Given the description of an element on the screen output the (x, y) to click on. 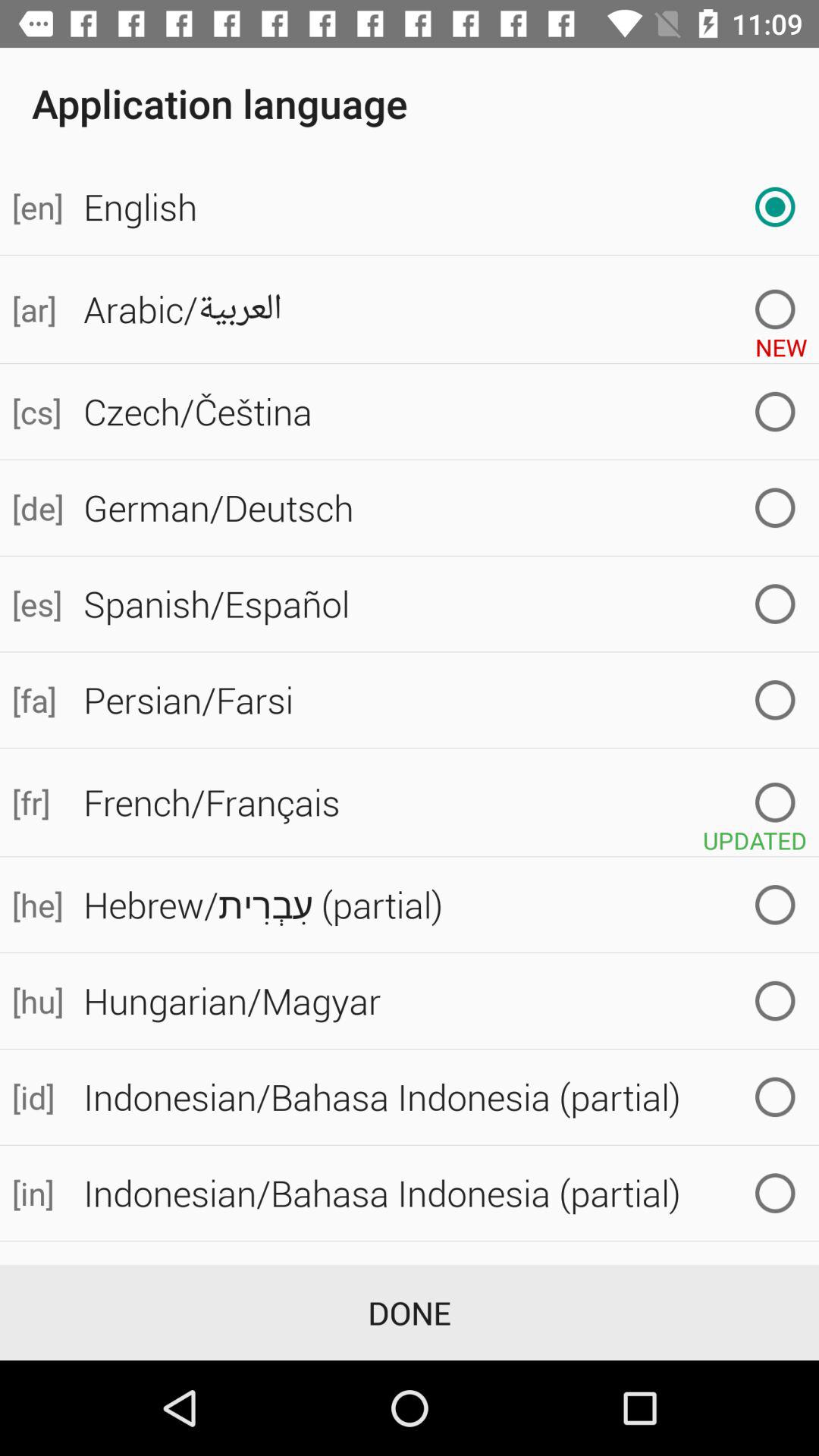
select the icon above the german/deutsch (35, 411)
